Given the description of an element on the screen output the (x, y) to click on. 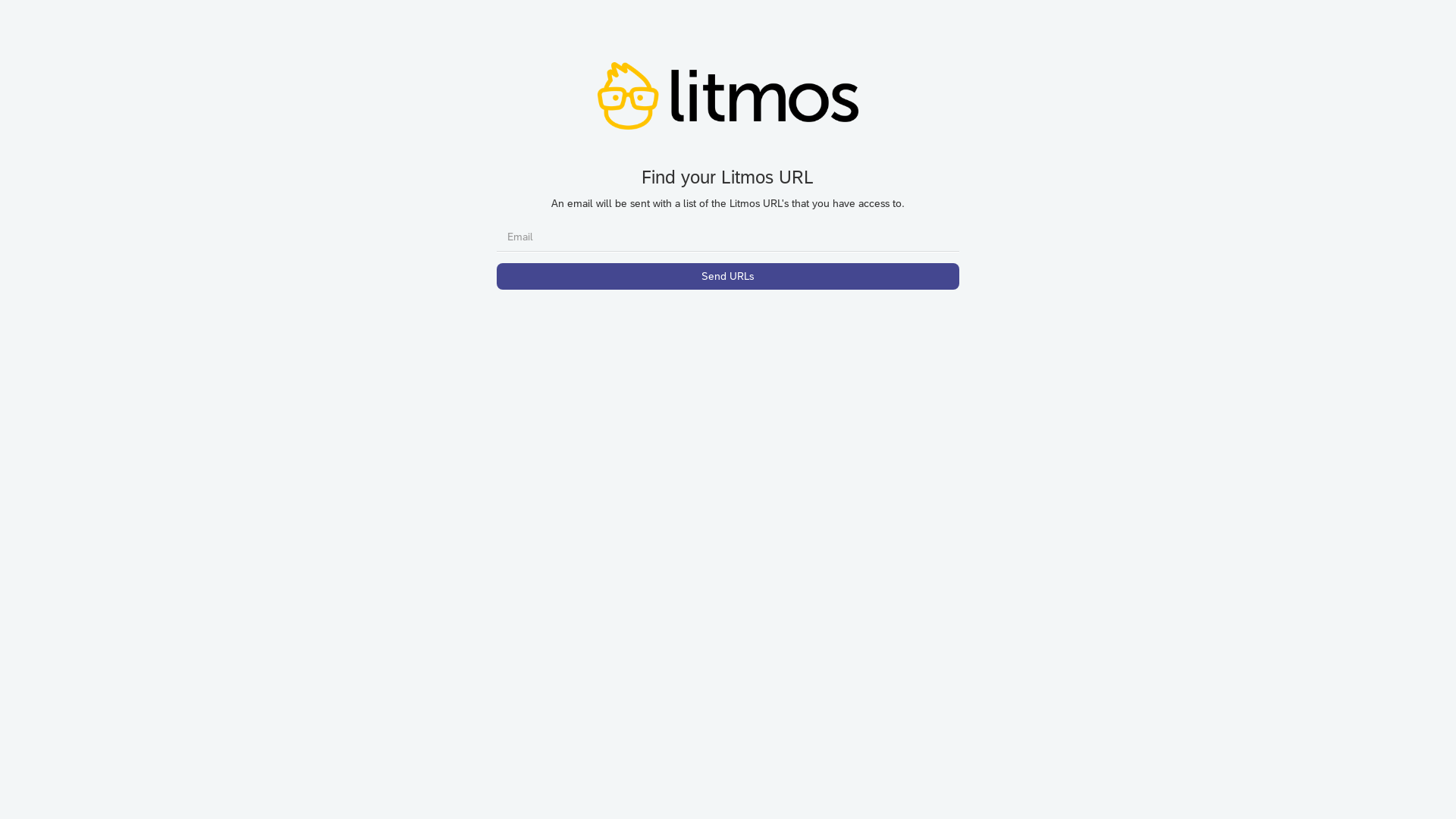
 Send URLs  Element type: text (727, 276)
